Given the description of an element on the screen output the (x, y) to click on. 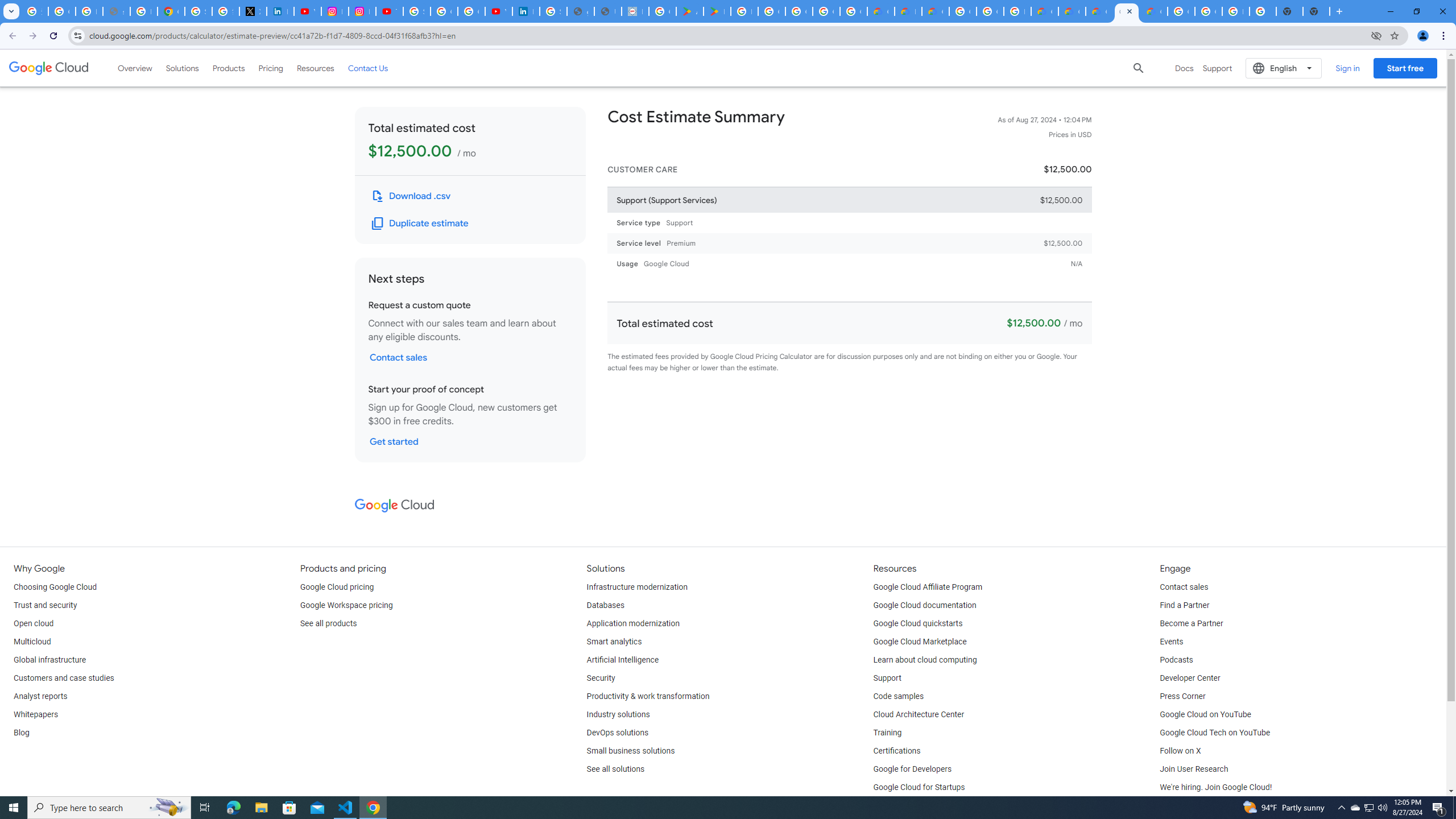
Start free (1405, 67)
DevOps solutions (617, 732)
Google Cloud documentation (924, 605)
Artificial Intelligence (622, 660)
We're hiring. Join Google Cloud! (1215, 787)
User Details (607, 11)
Cloud Architecture Center (918, 714)
Download .csv file (412, 196)
Small business solutions (630, 751)
